Given the description of an element on the screen output the (x, y) to click on. 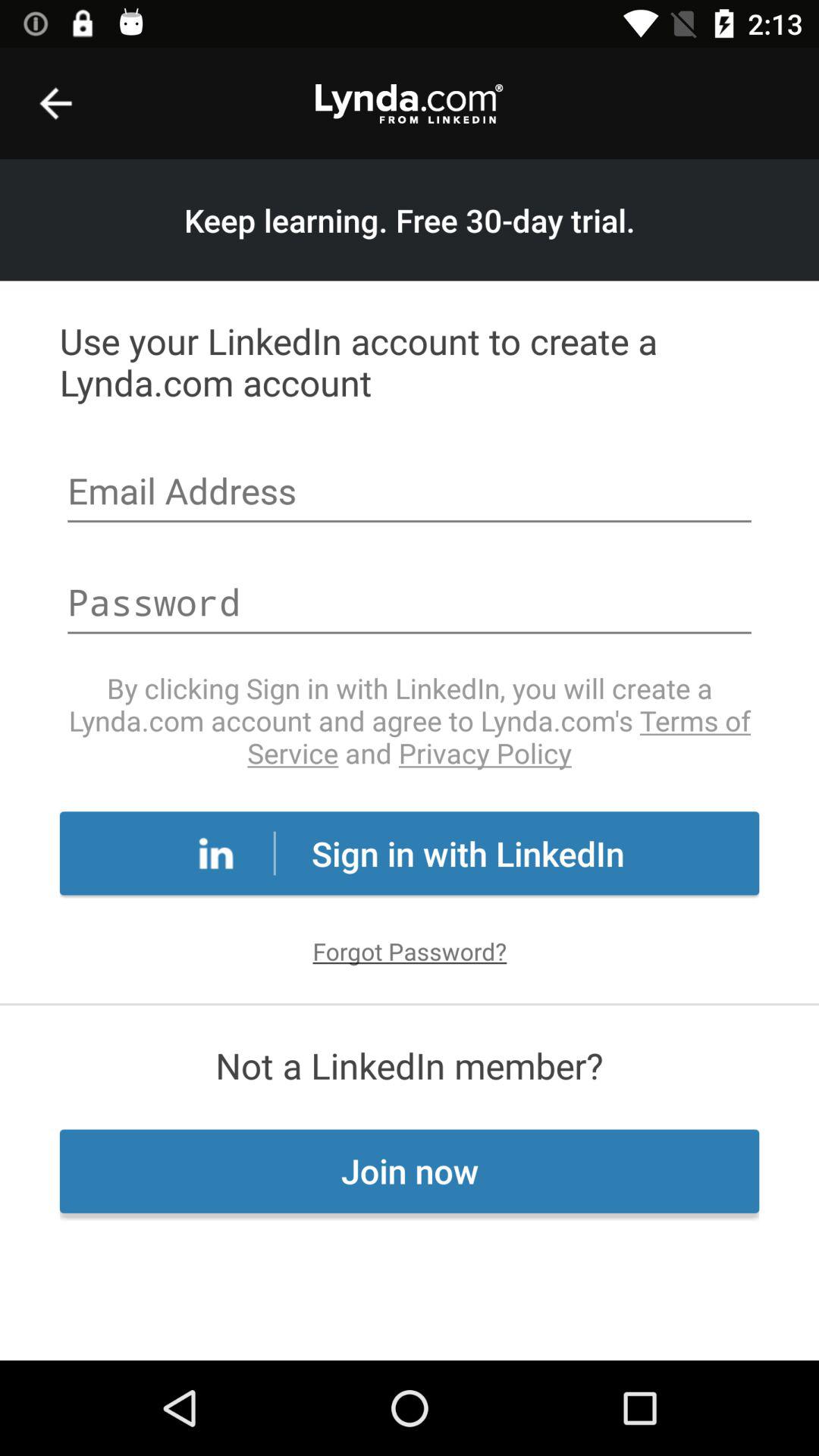
open item below the use your linkedin item (409, 493)
